Given the description of an element on the screen output the (x, y) to click on. 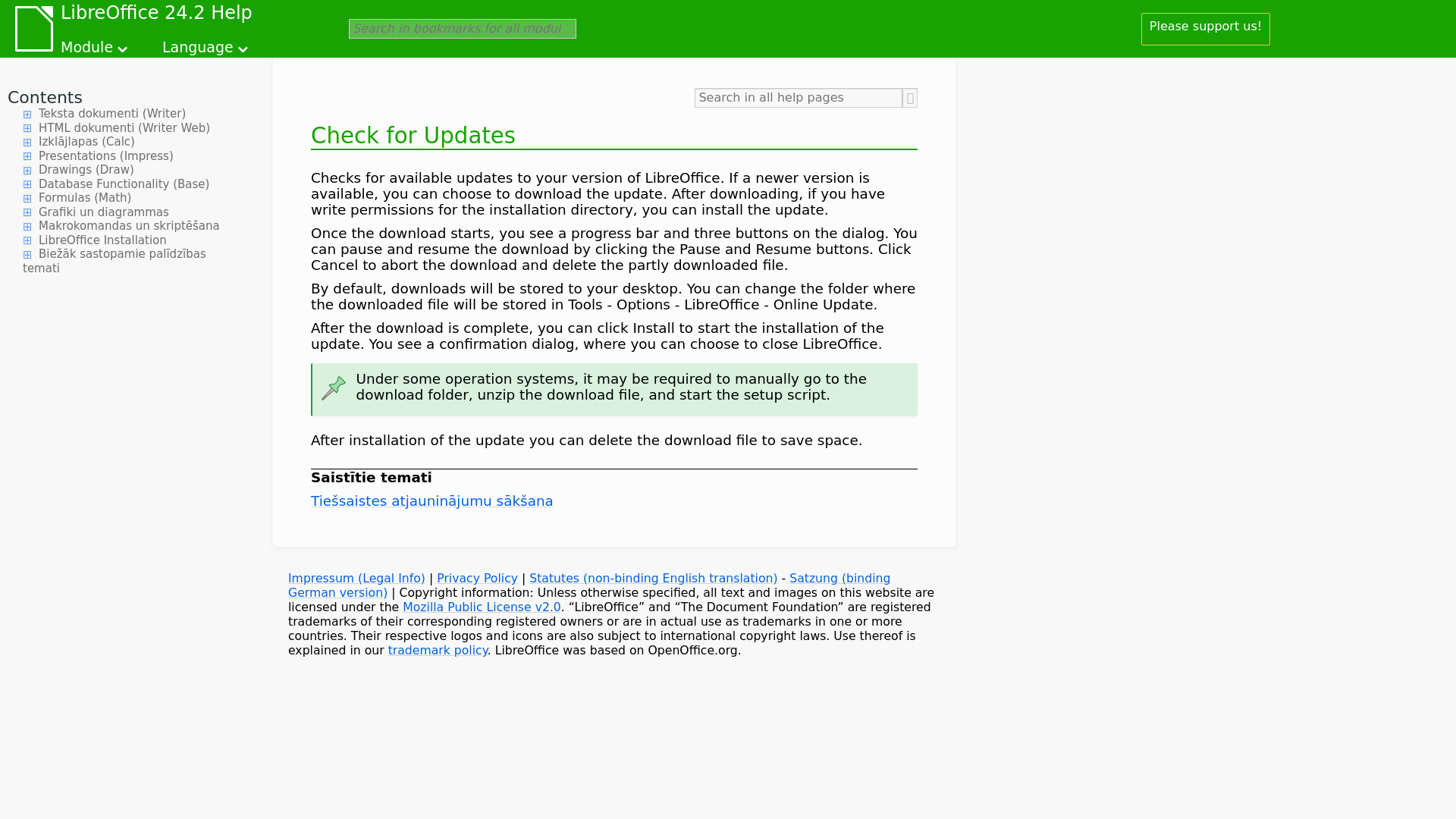
Language (206, 44)
Module (96, 44)
LibreOffice 24.2 Help (156, 15)
